Given the description of an element on the screen output the (x, y) to click on. 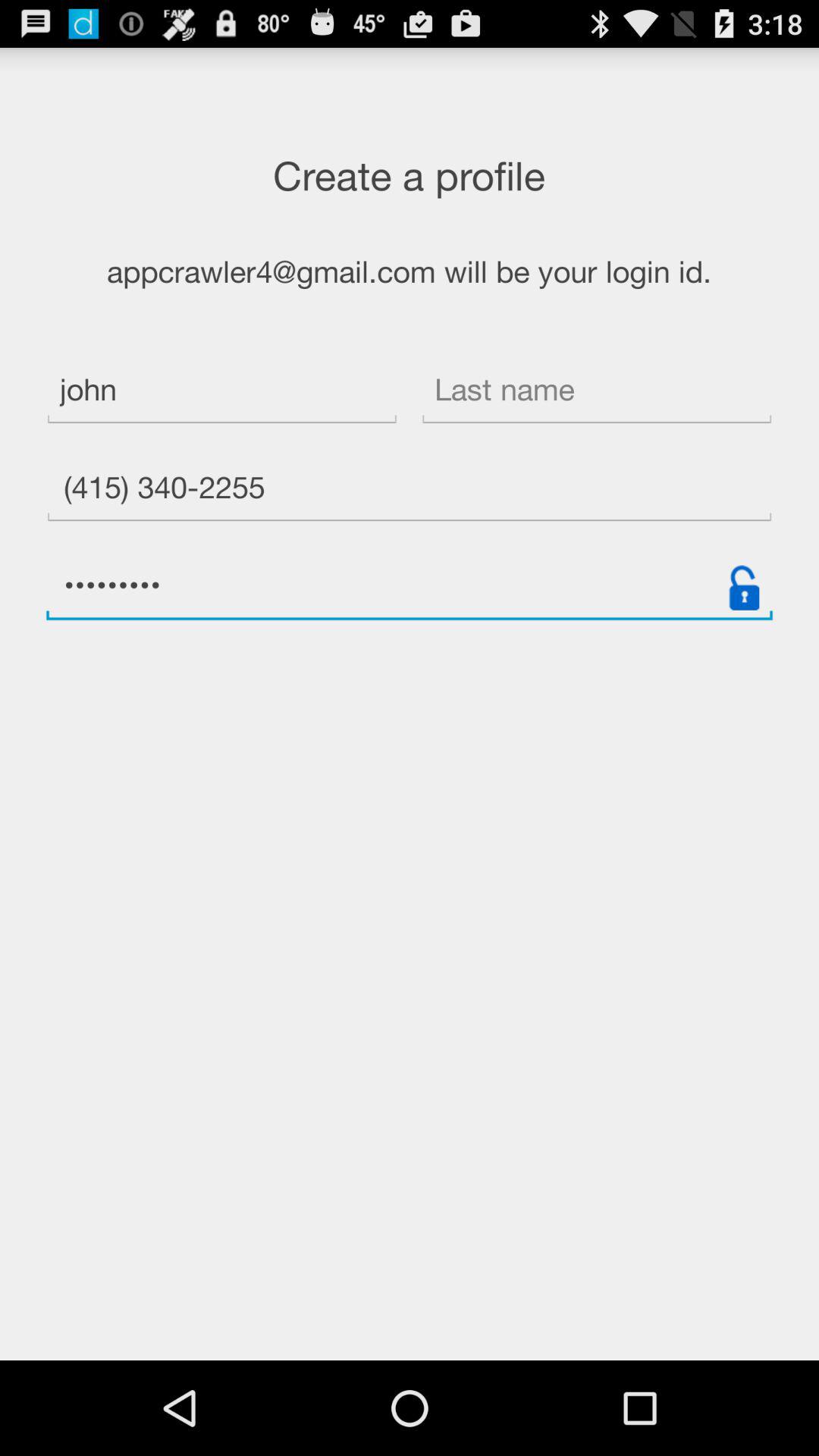
swipe until john (221, 392)
